Given the description of an element on the screen output the (x, y) to click on. 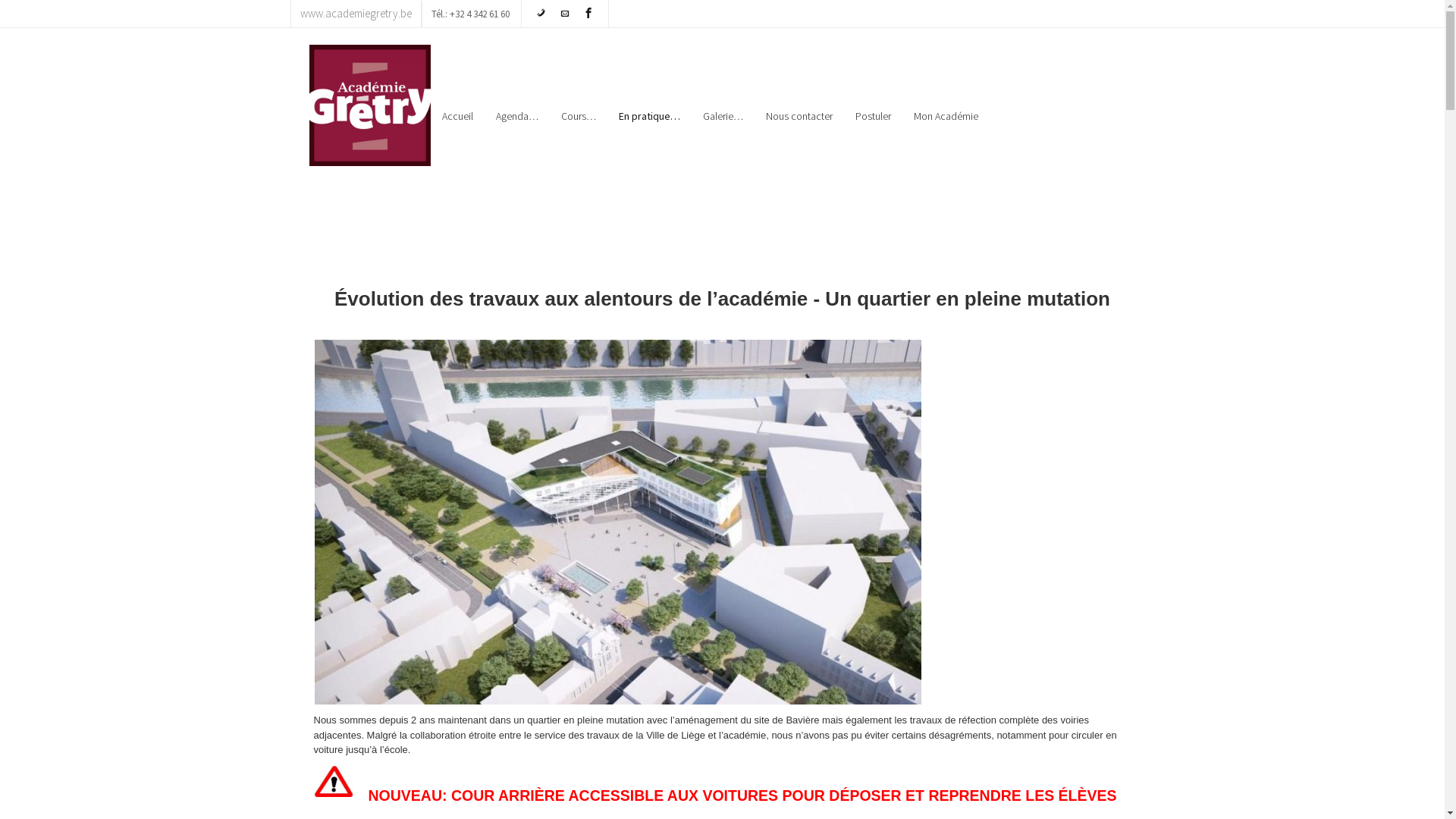
Nous contacter Element type: text (798, 115)
Postuler Element type: text (872, 115)
Accueil Element type: text (457, 115)
